Given the description of an element on the screen output the (x, y) to click on. 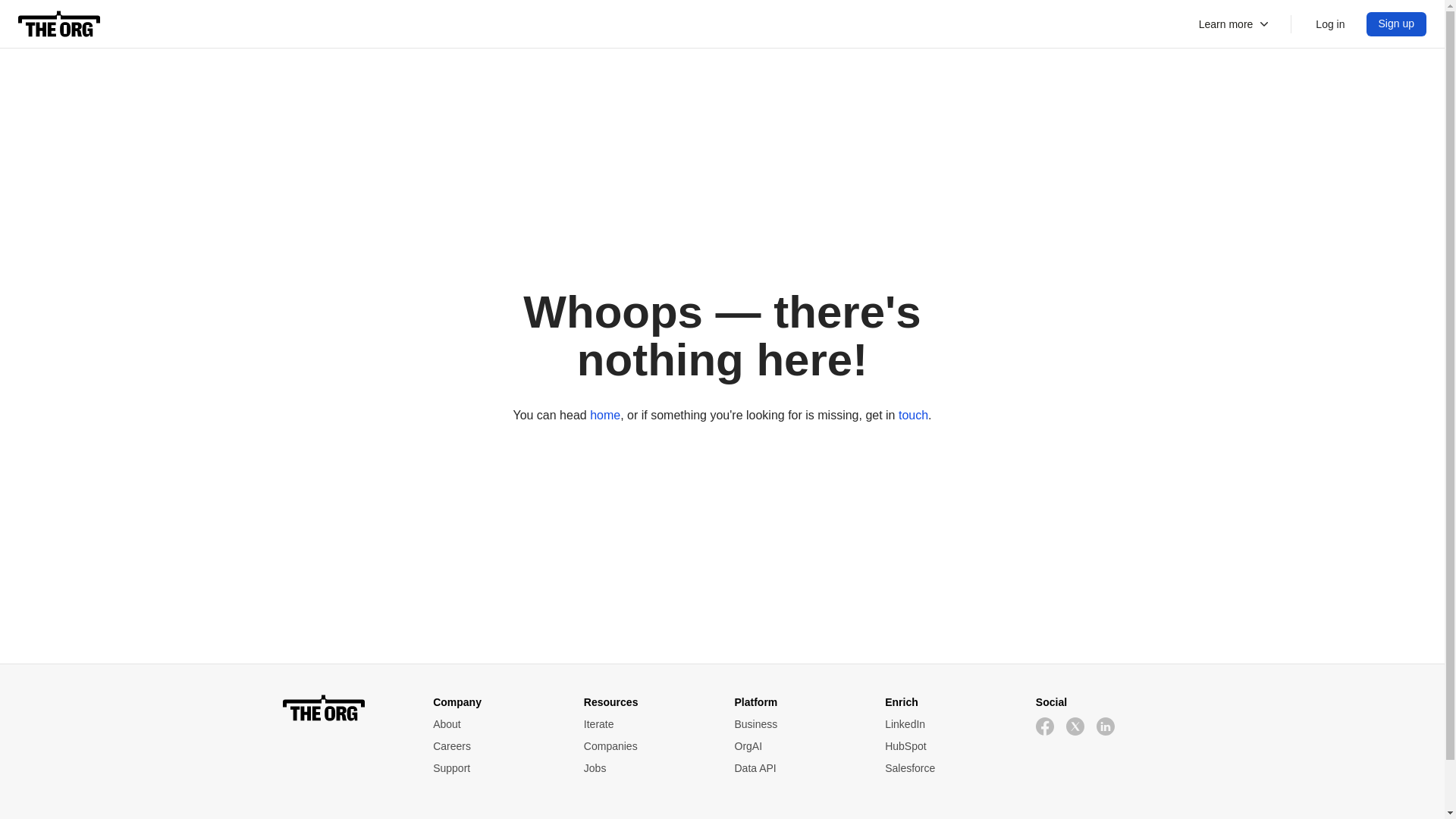
Log in to The Org (1329, 24)
The Org logo (345, 707)
Support (495, 768)
Careers (495, 746)
Data API (796, 768)
Jobs (646, 768)
Sign up (1396, 24)
Salesforce (948, 768)
About (495, 724)
Business (796, 724)
